Given the description of an element on the screen output the (x, y) to click on. 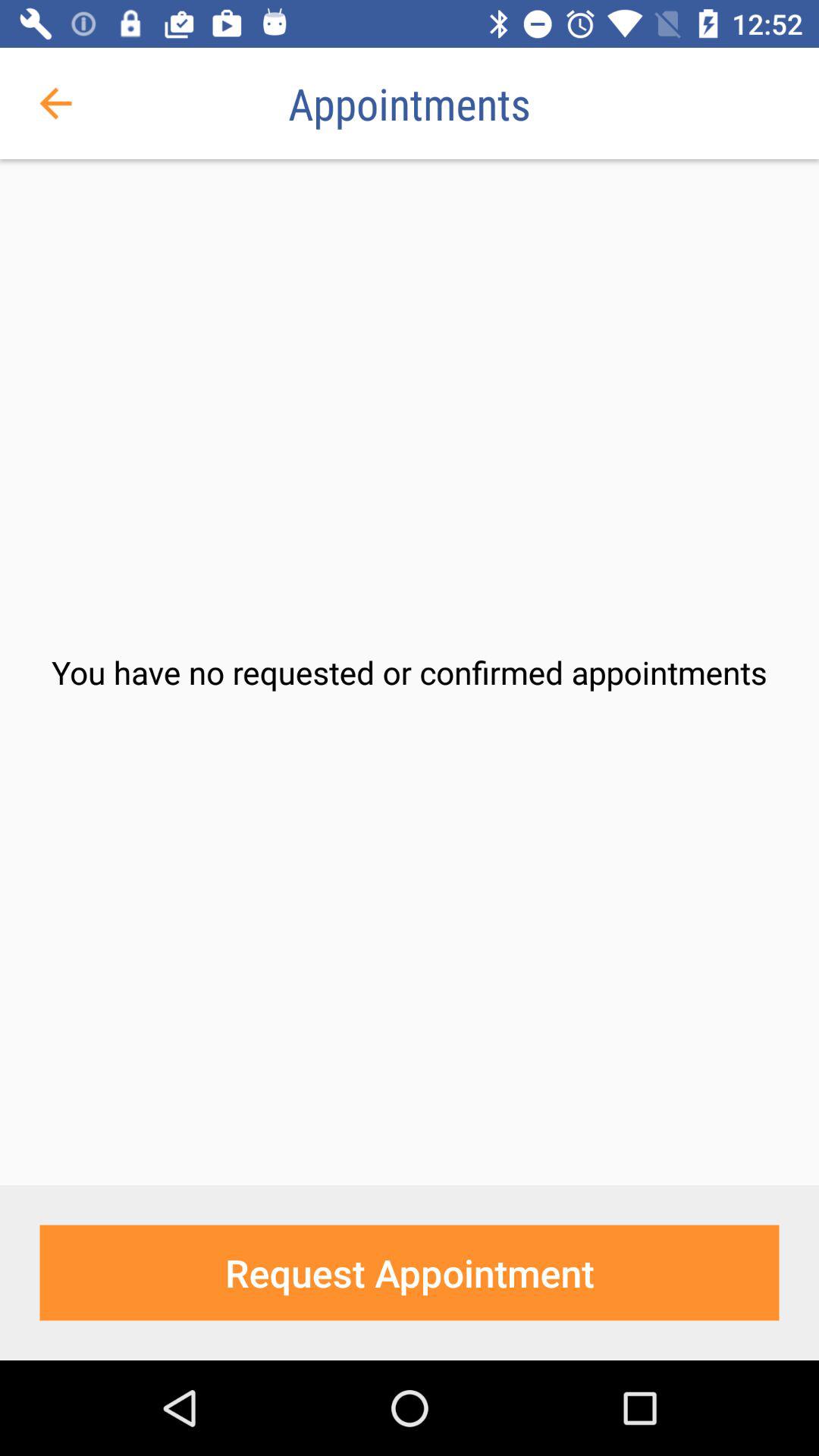
jump to request appointment icon (409, 1272)
